Given the description of an element on the screen output the (x, y) to click on. 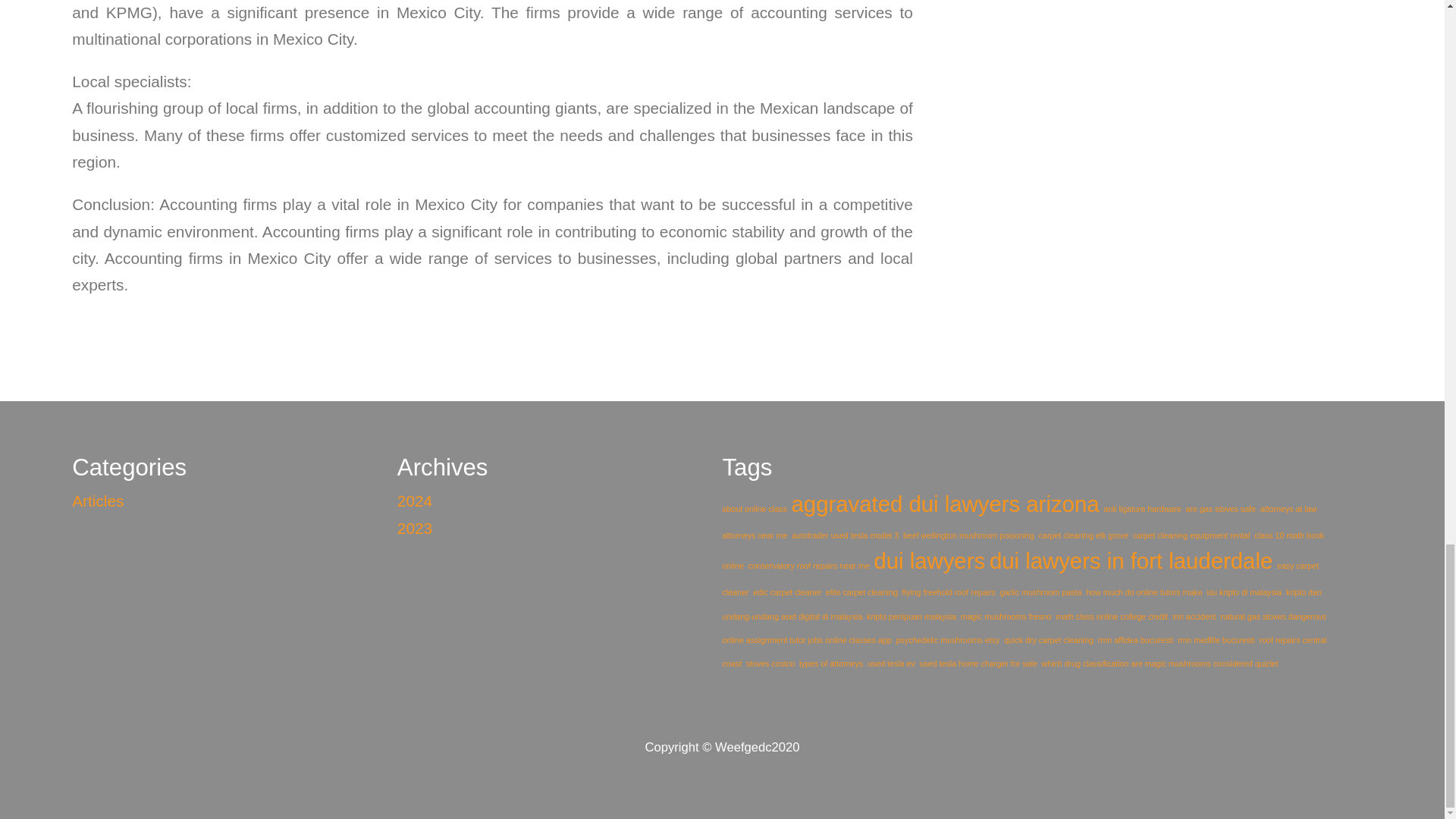
class 10 math book online (1022, 550)
autotrader used tesla model 3 (845, 534)
aggravated dui lawyers arizona (945, 503)
dui lawyers (929, 560)
isu kripto di malaysia (1244, 592)
elite carpet cleaning (861, 592)
how much do online tutors make (1144, 592)
kripto dan undang-undang aset digital di malaysia (1021, 603)
beef wellington mushroom poisoning (967, 534)
are gas stoves safe (1220, 508)
